Given the description of an element on the screen output the (x, y) to click on. 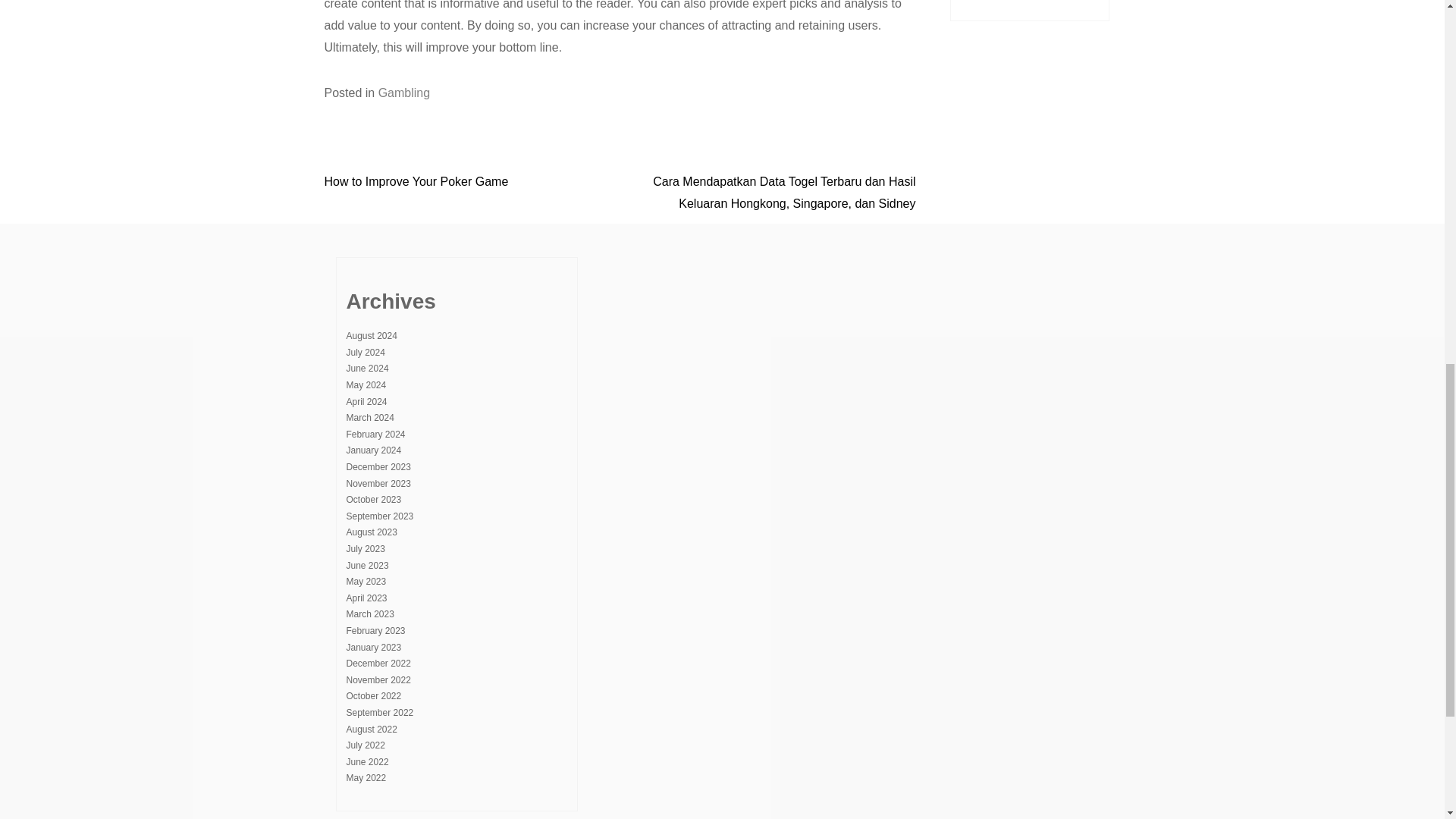
February 2024 (375, 434)
June 2024 (367, 368)
July 2023 (365, 548)
February 2023 (375, 630)
August 2023 (371, 532)
April 2024 (366, 401)
November 2023 (378, 483)
March 2024 (369, 417)
May 2023 (365, 581)
December 2022 (378, 663)
January 2023 (373, 647)
September 2023 (379, 516)
May 2024 (365, 385)
December 2023 (378, 466)
